Given the description of an element on the screen output the (x, y) to click on. 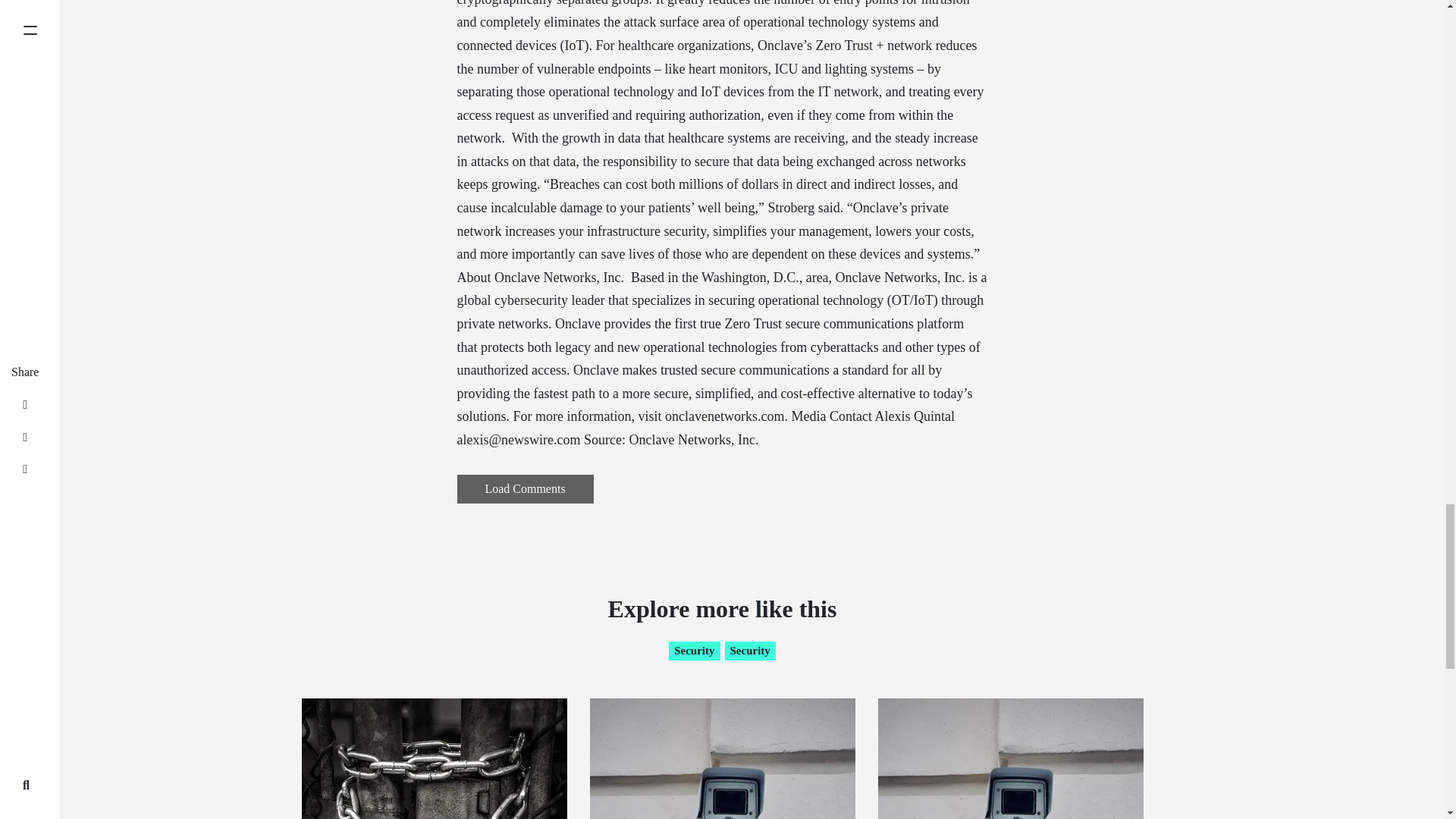
Security (693, 650)
Security (750, 650)
Security (750, 650)
Load Comments (524, 489)
Security (693, 650)
